Given the description of an element on the screen output the (x, y) to click on. 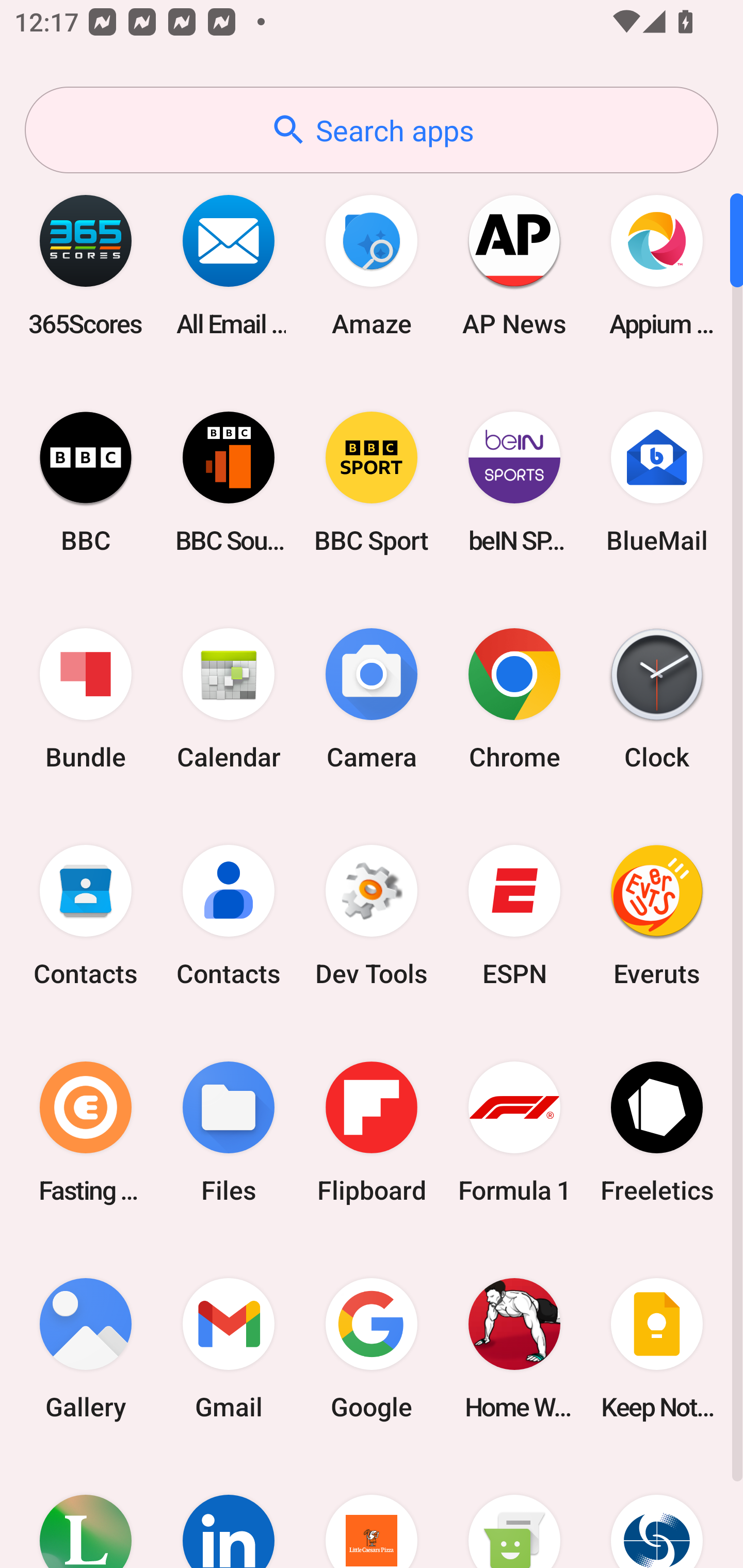
  Search apps (371, 130)
365Scores (85, 264)
All Email Connect (228, 264)
Amaze (371, 264)
AP News (514, 264)
Appium Settings (656, 264)
BBC (85, 482)
BBC Sounds (228, 482)
BBC Sport (371, 482)
beIN SPORTS (514, 482)
BlueMail (656, 482)
Bundle (85, 699)
Calendar (228, 699)
Camera (371, 699)
Chrome (514, 699)
Clock (656, 699)
Contacts (85, 915)
Contacts (228, 915)
Dev Tools (371, 915)
ESPN (514, 915)
Everuts (656, 915)
Fasting Coach (85, 1131)
Files (228, 1131)
Flipboard (371, 1131)
Formula 1 (514, 1131)
Freeletics (656, 1131)
Gallery (85, 1348)
Gmail (228, 1348)
Google (371, 1348)
Home Workout (514, 1348)
Keep Notes (656, 1348)
Lifesum (85, 1512)
LinkedIn (228, 1512)
Little Caesars Pizza (371, 1512)
Messaging (514, 1512)
MyObservatory (656, 1512)
